Given the description of an element on the screen output the (x, y) to click on. 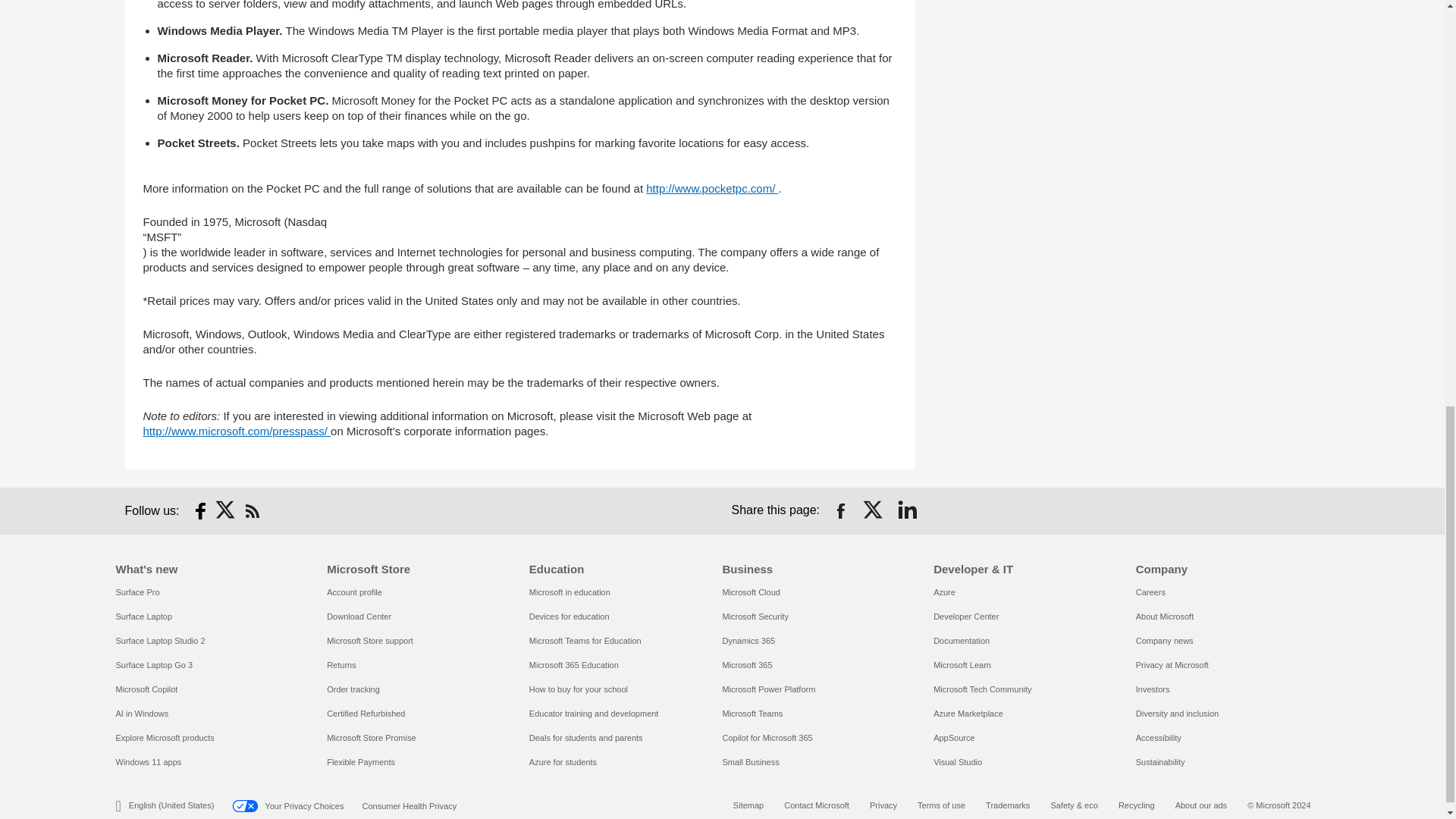
Share on Twitter (873, 510)
Follow on Facebook (200, 510)
Share on LinkedIn (907, 510)
RSS Subscription (252, 510)
Follow on Twitter (226, 510)
Share on Facebook (840, 510)
